Given the description of an element on the screen output the (x, y) to click on. 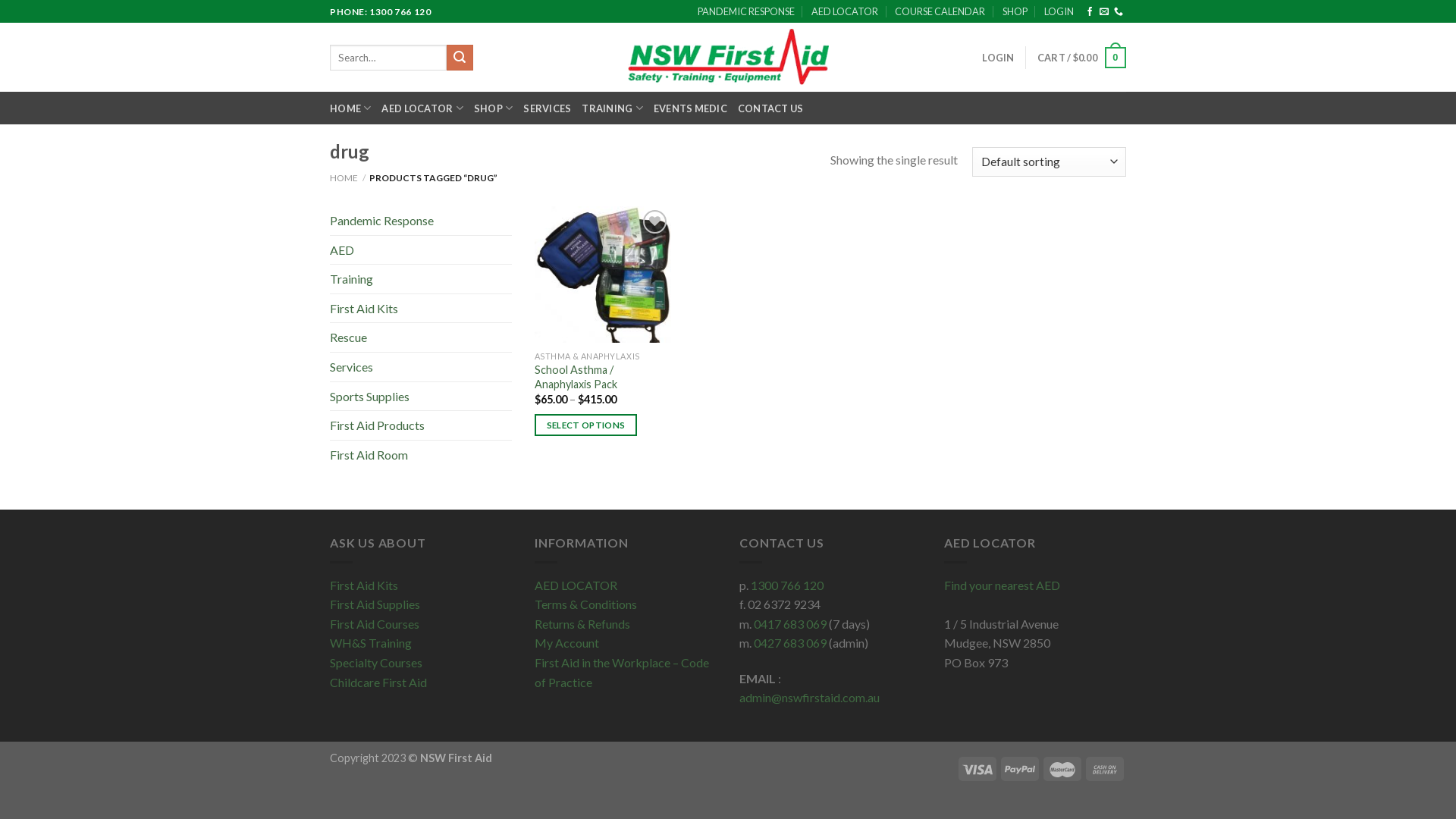
Follow on Facebook Element type: hover (1089, 11)
Specialty Courses Element type: text (375, 662)
Sports Supplies Element type: text (420, 396)
Search Element type: text (459, 57)
Send us an email Element type: hover (1103, 11)
0427 683 069 Element type: text (789, 642)
Services Element type: text (420, 366)
1300 766 120 Element type: text (786, 584)
Pandemic Response Element type: text (420, 220)
First Aid Room Element type: text (420, 454)
My Account Element type: text (566, 642)
Childcare First Aid Element type: text (377, 681)
0417 683 069 Element type: text (789, 623)
SHOP Element type: text (492, 108)
Find your nearest AED Element type: text (1002, 584)
SHOP Element type: text (1014, 11)
PANDEMIC RESPONSE Element type: text (745, 11)
TRAINING Element type: text (612, 108)
COURSE CALENDAR Element type: text (939, 11)
LOGIN Element type: text (997, 57)
Terms & Conditions Element type: text (585, 603)
AED Element type: text (420, 249)
WH&S Training Element type: text (370, 642)
admin@nswfirstaid.com.au Element type: text (809, 697)
AED LOCATOR Element type: text (421, 108)
First Aid Products Element type: text (420, 425)
EVENTS MEDIC Element type: text (690, 108)
SELECT OPTIONS Element type: text (585, 425)
First Aid Courses Element type: text (374, 623)
First Aid Kits Element type: text (363, 584)
SERVICES Element type: text (547, 108)
HOME Element type: text (343, 177)
First Aid Supplies Element type: text (374, 603)
Rescue Element type: text (420, 337)
Training Element type: text (420, 278)
HOME Element type: text (349, 108)
Returns & Refunds Element type: text (582, 623)
AED LOCATOR Element type: text (575, 584)
CONTACT US Element type: text (770, 108)
School Asthma / Anaphylaxis Pack Element type: text (596, 377)
LOGIN Element type: text (1058, 11)
Call us Element type: hover (1118, 11)
CART / $0.00
0 Element type: text (1081, 57)
First Aid Kits Element type: text (420, 308)
AED LOCATOR Element type: text (844, 11)
